Given the description of an element on the screen output the (x, y) to click on. 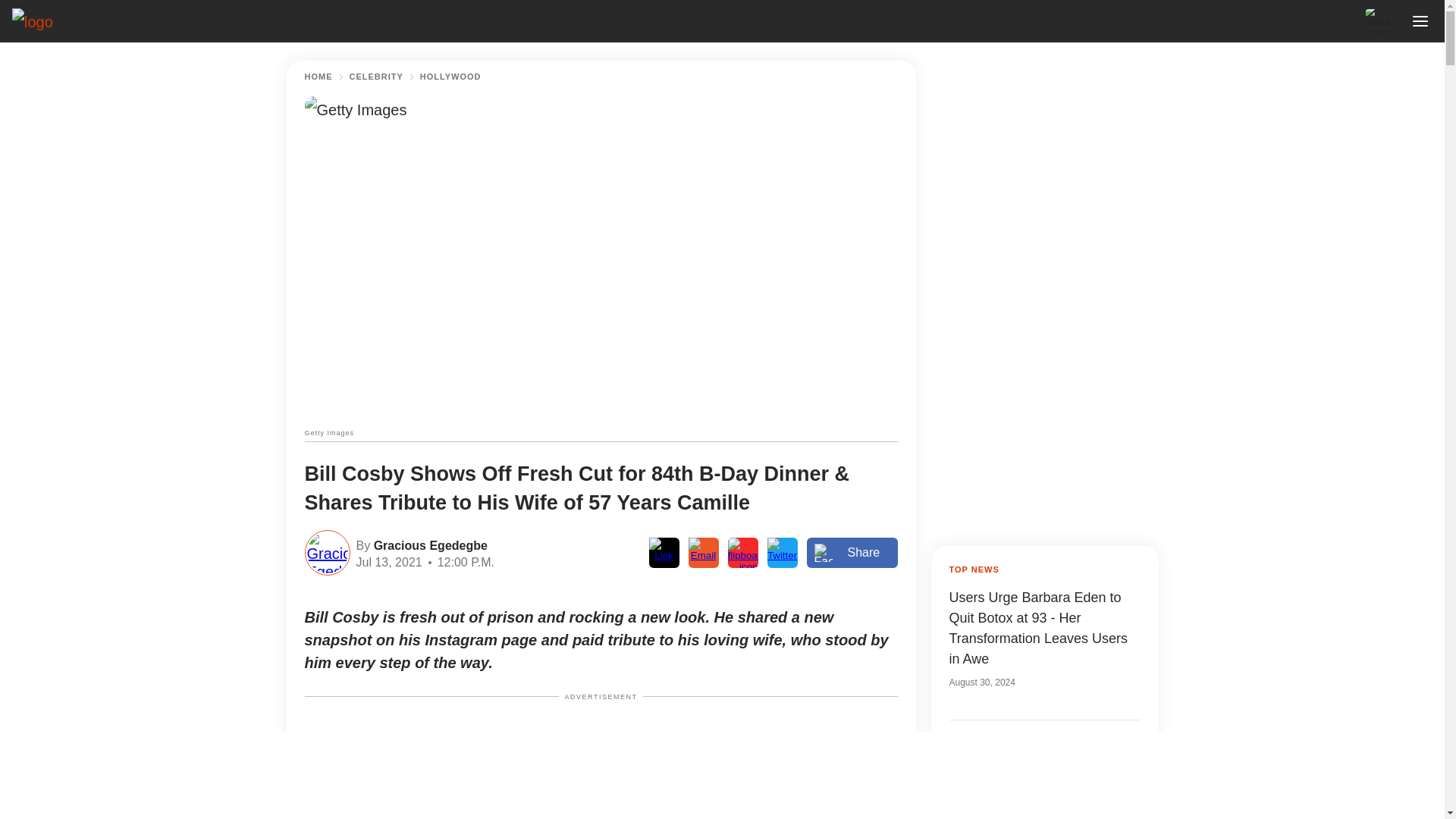
CELEBRITY (376, 76)
Gracious Egedegbe (428, 544)
HOLLYWOOD (450, 76)
HOME (318, 76)
